Given the description of an element on the screen output the (x, y) to click on. 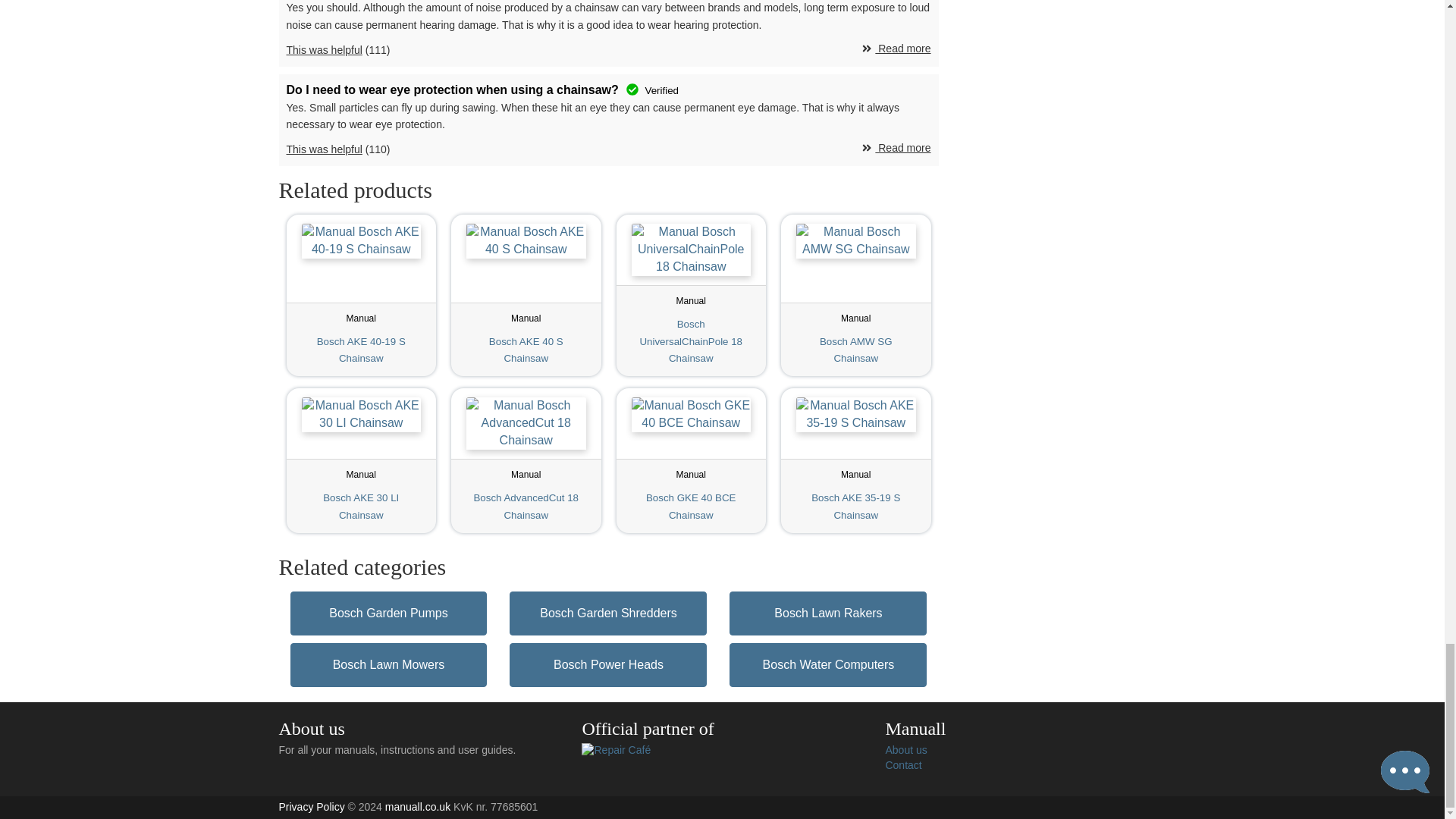
Manual Bosch AMW SG Chainsaw (855, 294)
Bosch Lawn Rakers (855, 294)
 Read more (360, 294)
Manual Bosch UniversalChainPole 18 Chainsaw (827, 613)
 Read more (895, 148)
Bosch Lawn Mowers (360, 460)
